Given the description of an element on the screen output the (x, y) to click on. 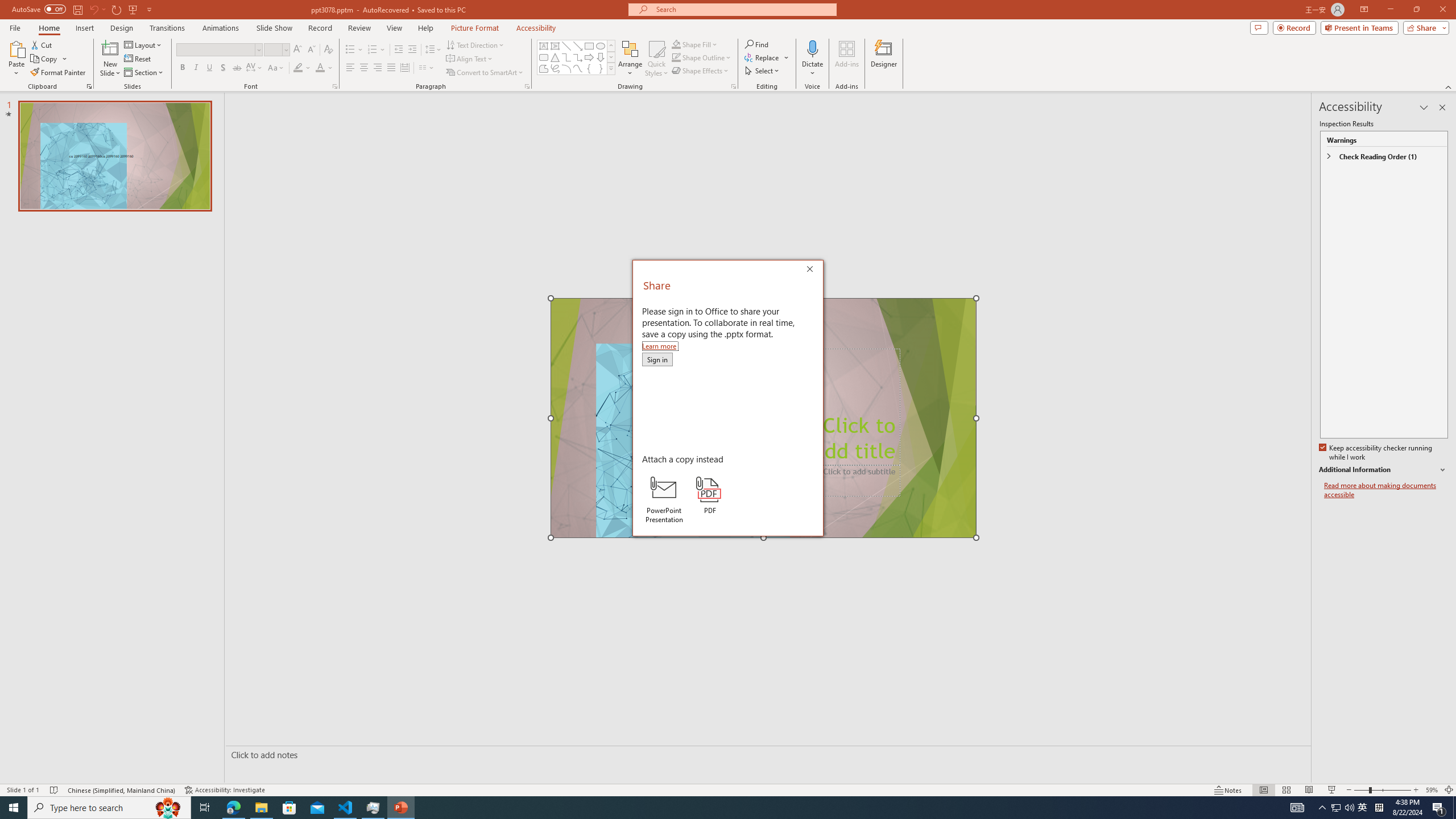
Find... (756, 44)
Justify (390, 67)
User Promoted Notification Area (1342, 807)
Right Brace (600, 68)
Font Color (320, 67)
Paragraph... (526, 85)
Quick Styles (656, 58)
Text Box (543, 45)
Line Spacing (433, 49)
Section (144, 72)
